Given the description of an element on the screen output the (x, y) to click on. 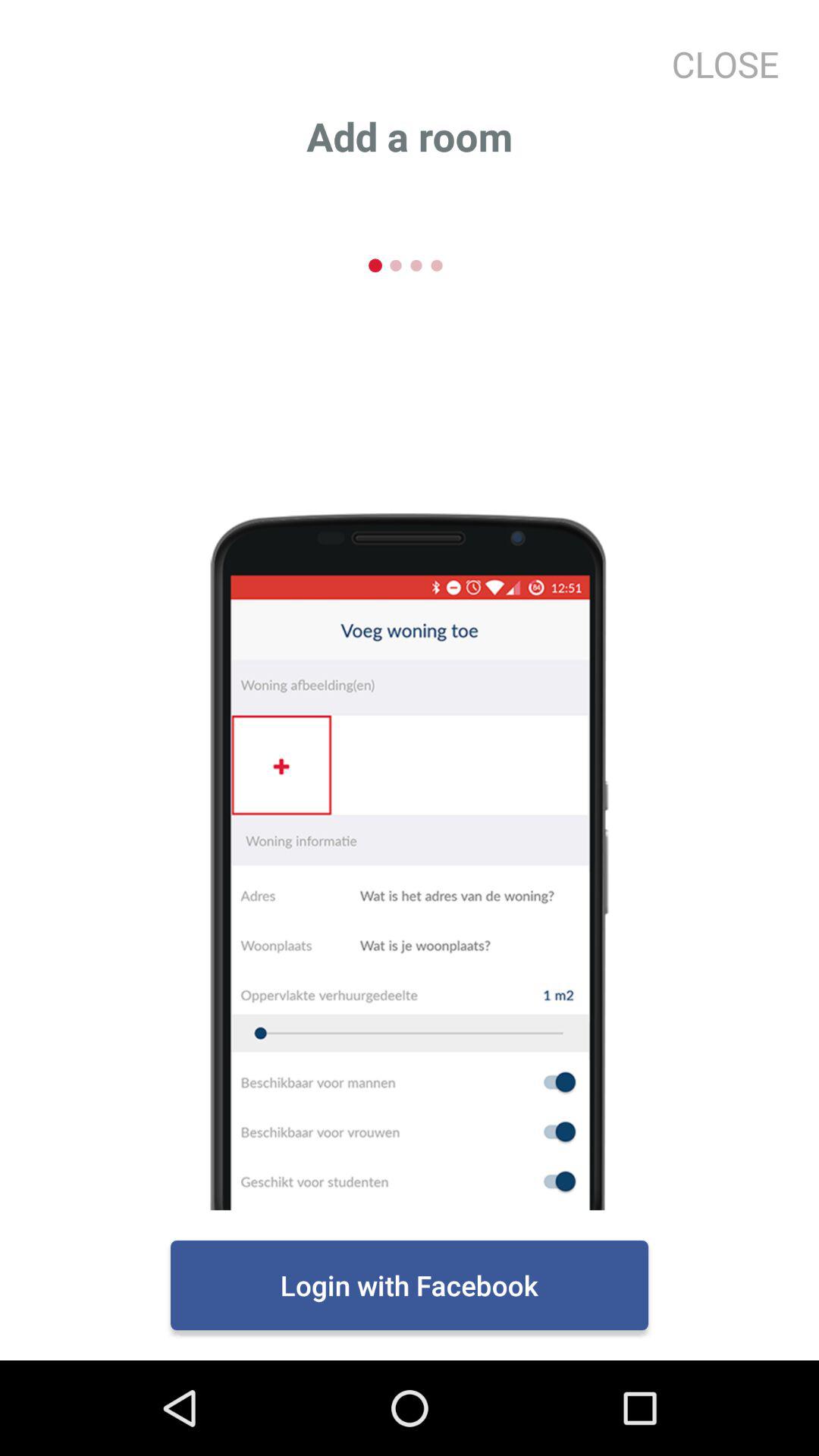
press login with facebook item (409, 1285)
